Given the description of an element on the screen output the (x, y) to click on. 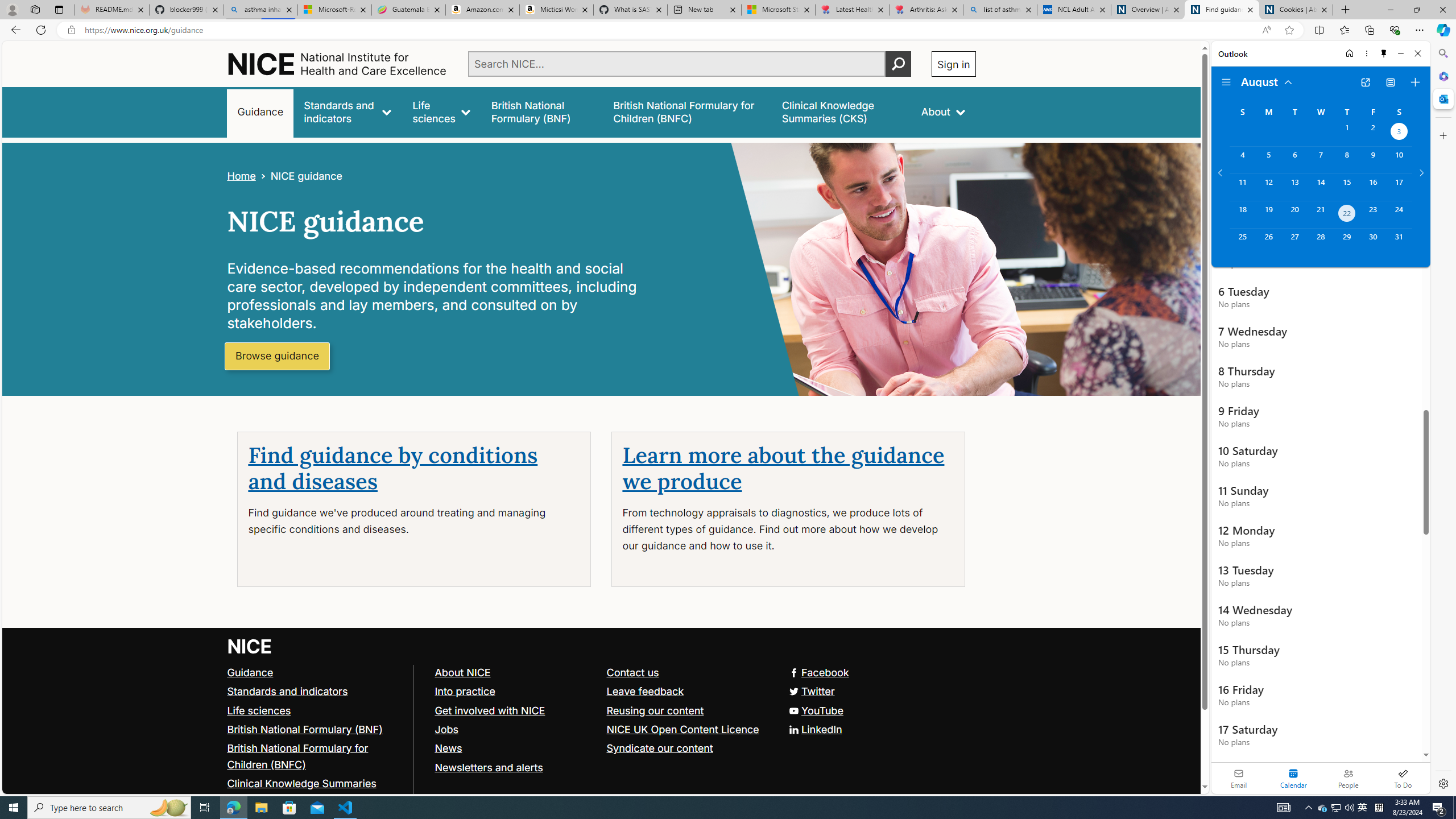
Saturday, August 3, 2024. Date selected.  (1399, 132)
Sunday, August 11, 2024.  (1242, 186)
Facebook (817, 671)
Email (1238, 777)
LinkedIn (815, 729)
Syndicate our content (686, 747)
August (1267, 80)
Unpin side pane (1383, 53)
Twitter (810, 690)
